Given the description of an element on the screen output the (x, y) to click on. 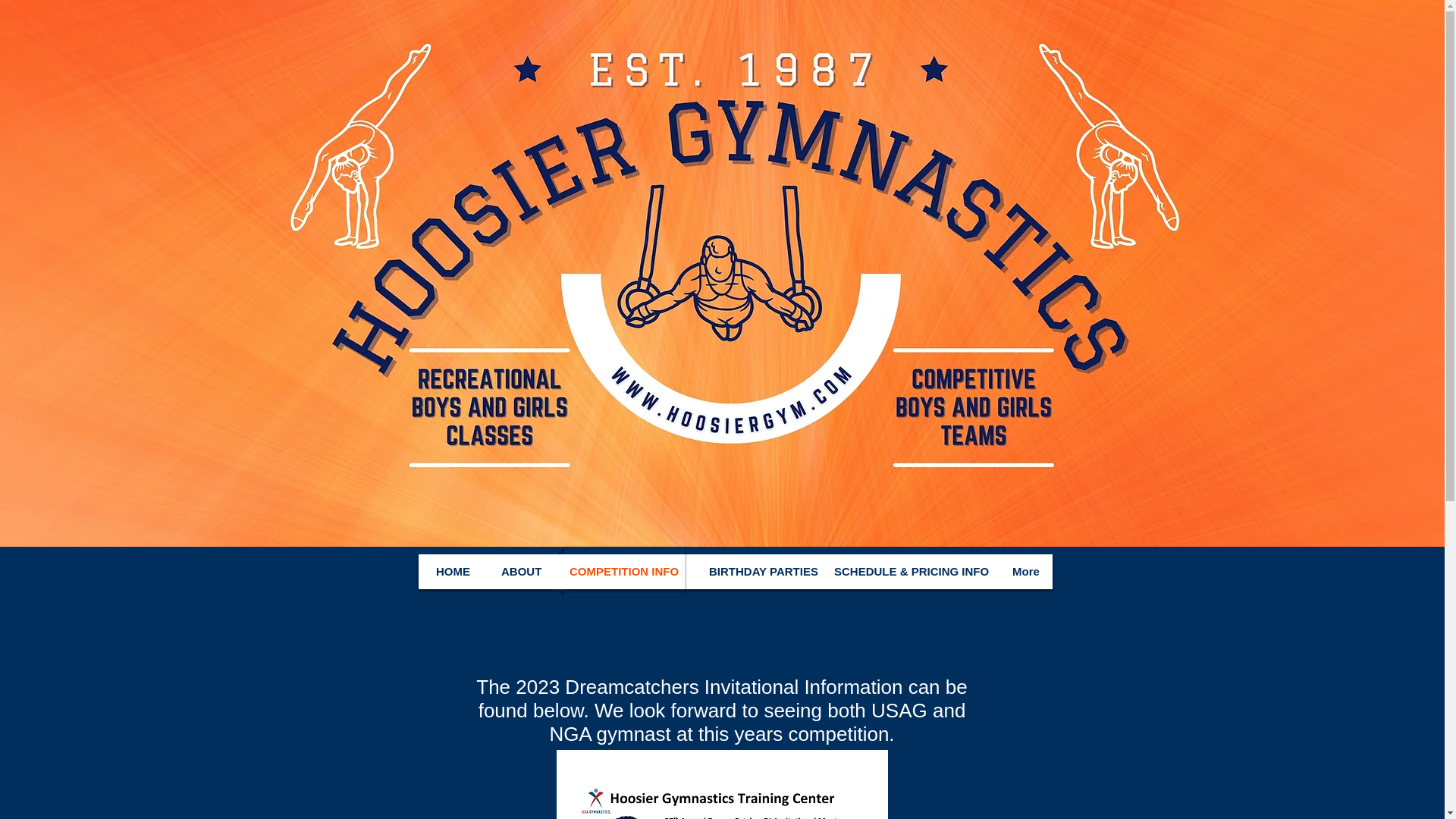
BIRTHDAY PARTIES (755, 572)
ABOUT (520, 572)
COMPETITION INFO (624, 572)
HOME (452, 572)
